Given the description of an element on the screen output the (x, y) to click on. 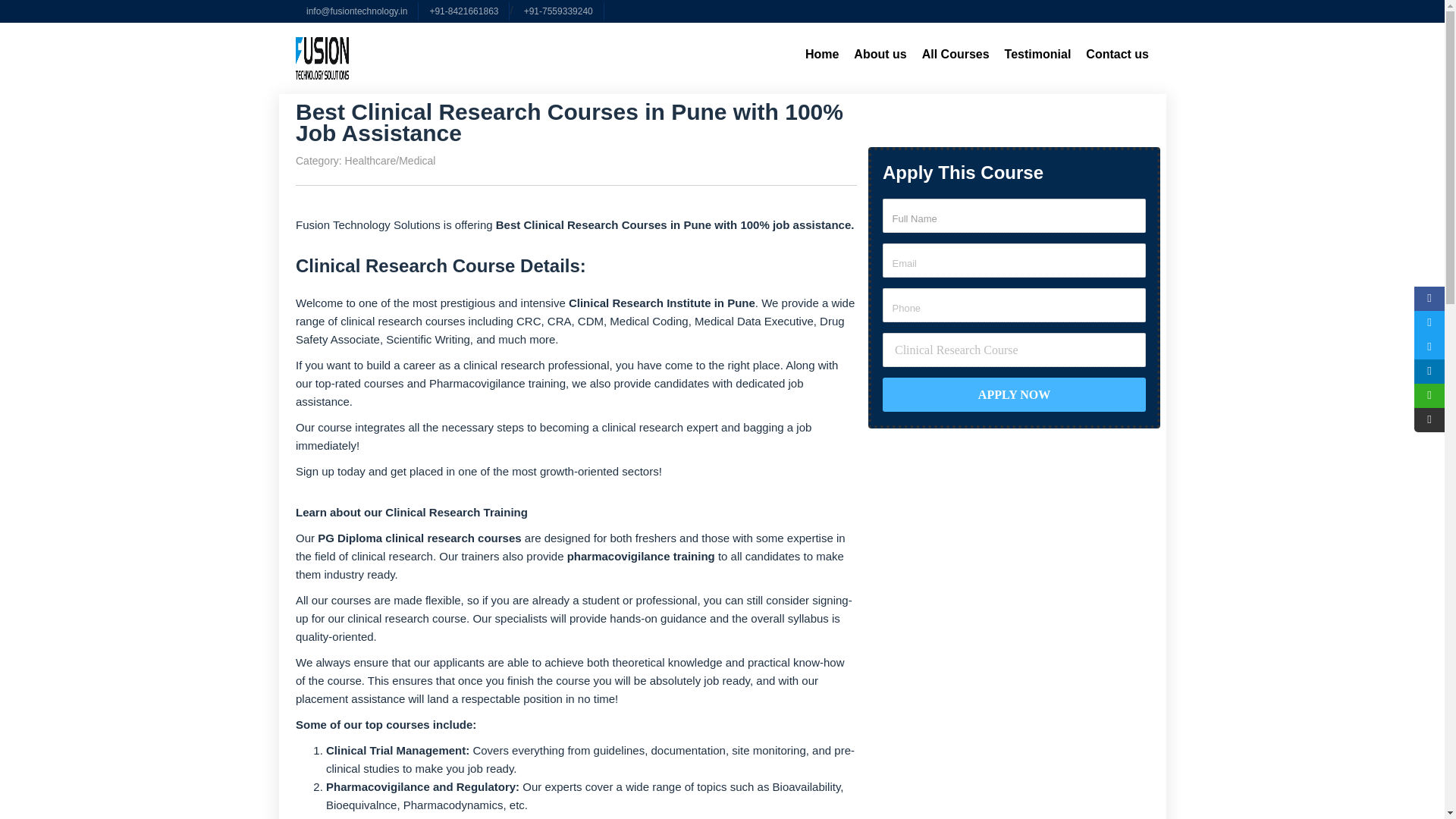
All Courses (955, 54)
APPLY NOW (1013, 394)
Testimonial (1037, 54)
Clinical Research Course (1013, 349)
About us (879, 54)
Home (821, 54)
